Given the description of an element on the screen output the (x, y) to click on. 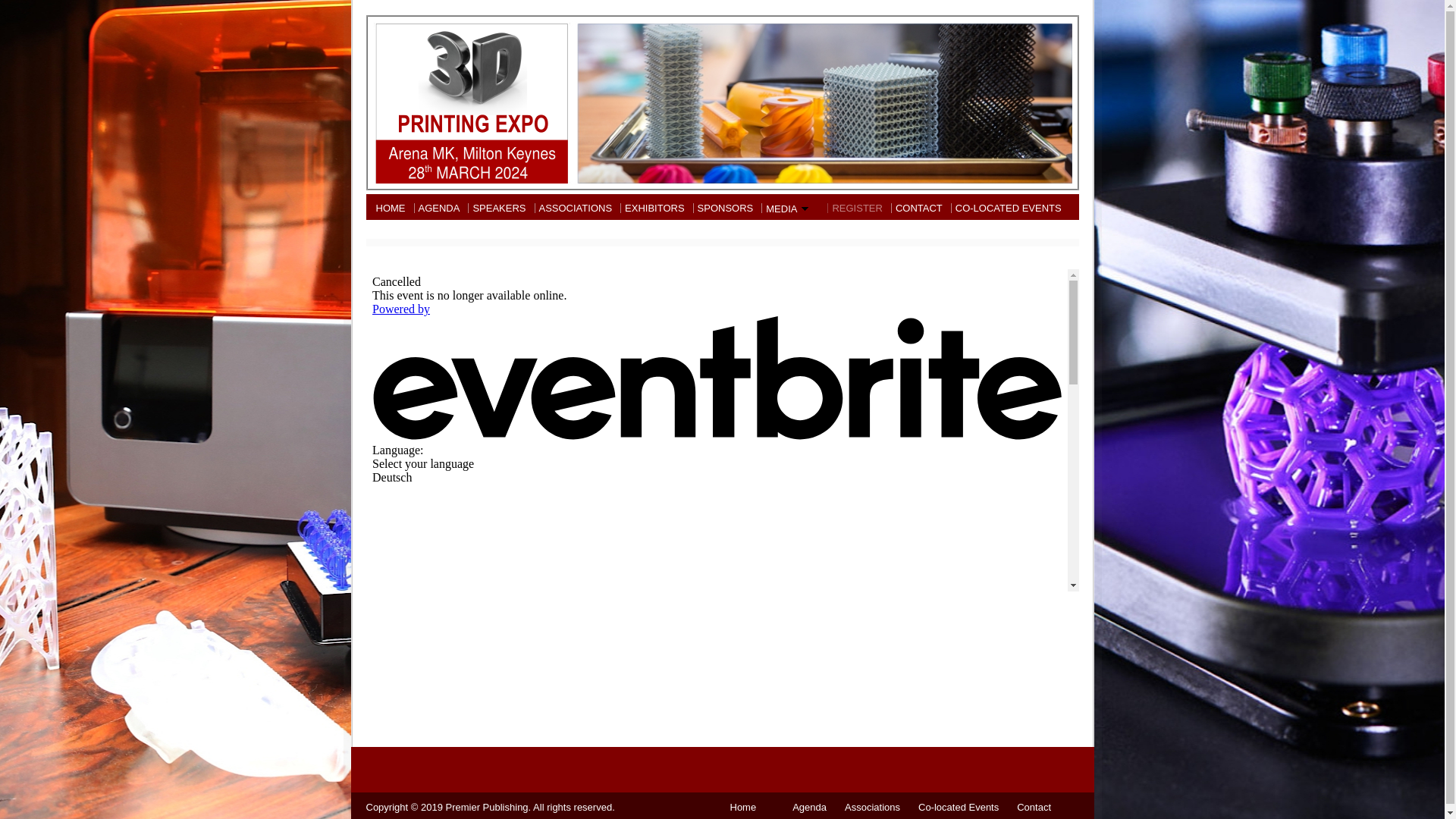
ASSOCIATIONS Element type: text (575, 208)
CO-LOCATED EVENTS Element type: text (1009, 208)
SPEAKERS Element type: text (498, 208)
HOME Element type: text (389, 208)
Contact Element type: text (1029, 806)
EXHIBITORS Element type: text (654, 208)
AGENDA Element type: text (438, 208)
Agenda Element type: text (804, 806)
REGISTER Element type: text (856, 208)
Home Element type: text (742, 806)
Premier Publishing Element type: text (486, 806)
Associations Element type: text (867, 806)
SPONSORS Element type: text (725, 208)
CONTACT Element type: text (918, 208)
Co-located Events Element type: text (953, 806)
